Given the description of an element on the screen output the (x, y) to click on. 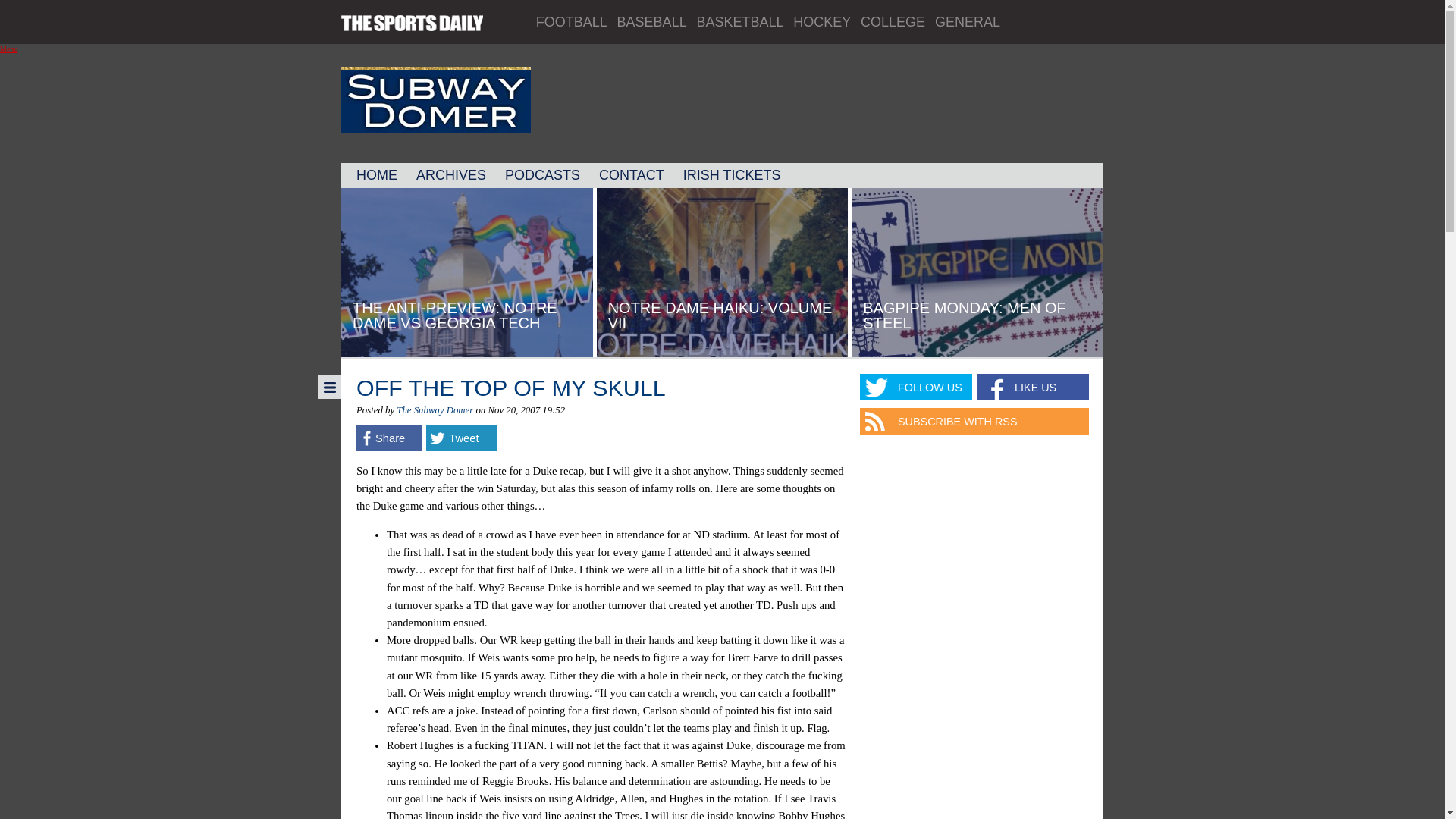
Notre Dame Haiku: Volume VII (720, 315)
The Anti-Preview: Notre Dame VS Georgia Tech (454, 315)
Off The Top Of My Skull (510, 387)
Bagpipe Monday: Men Of Steel (964, 315)
